Given the description of an element on the screen output the (x, y) to click on. 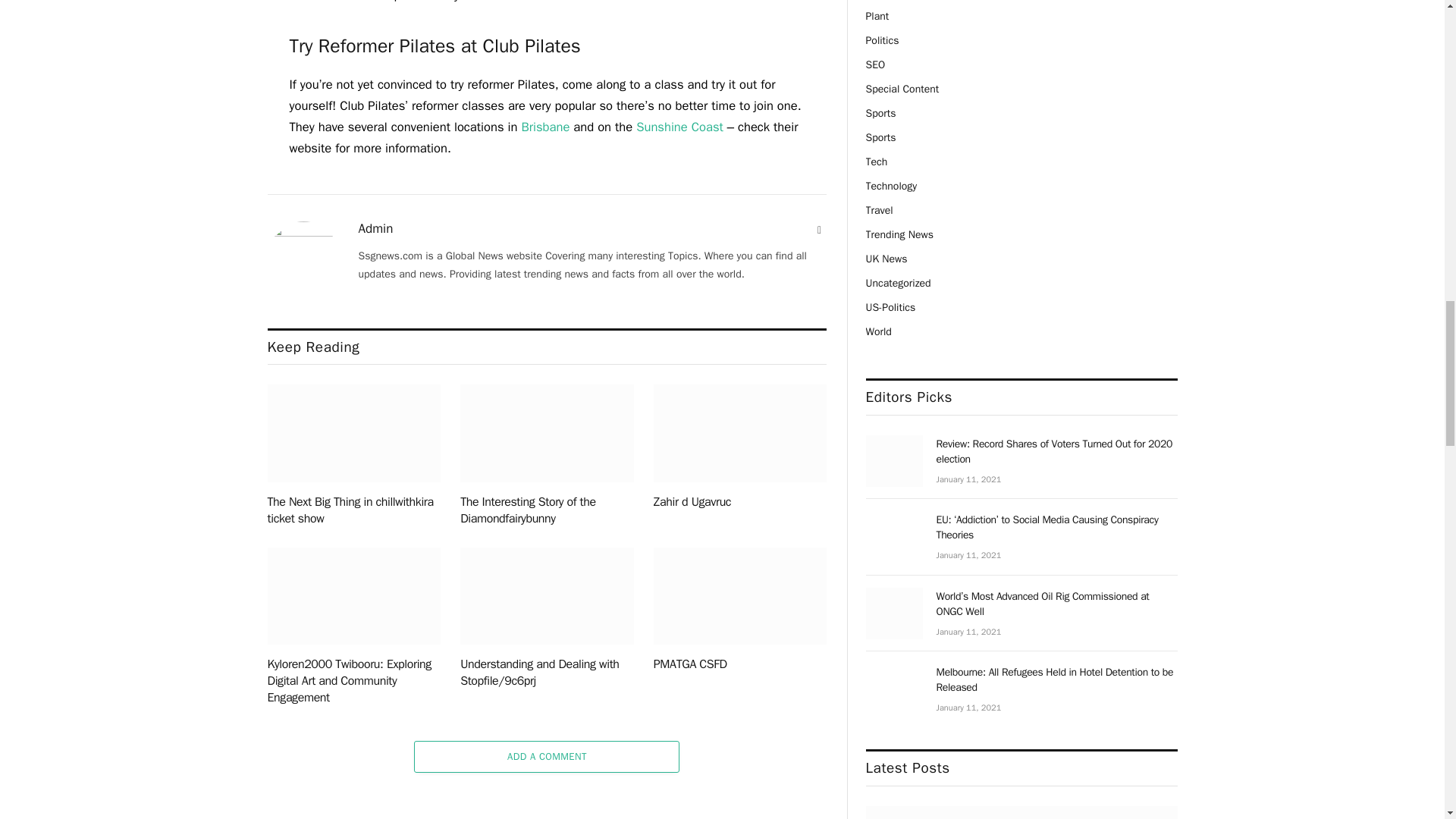
Posts by Admin (375, 228)
Website (818, 230)
The Interesting Story of the Diamondfairybunny (546, 433)
The Next Big Thing in chillwithkira ticket show (353, 433)
